Given the description of an element on the screen output the (x, y) to click on. 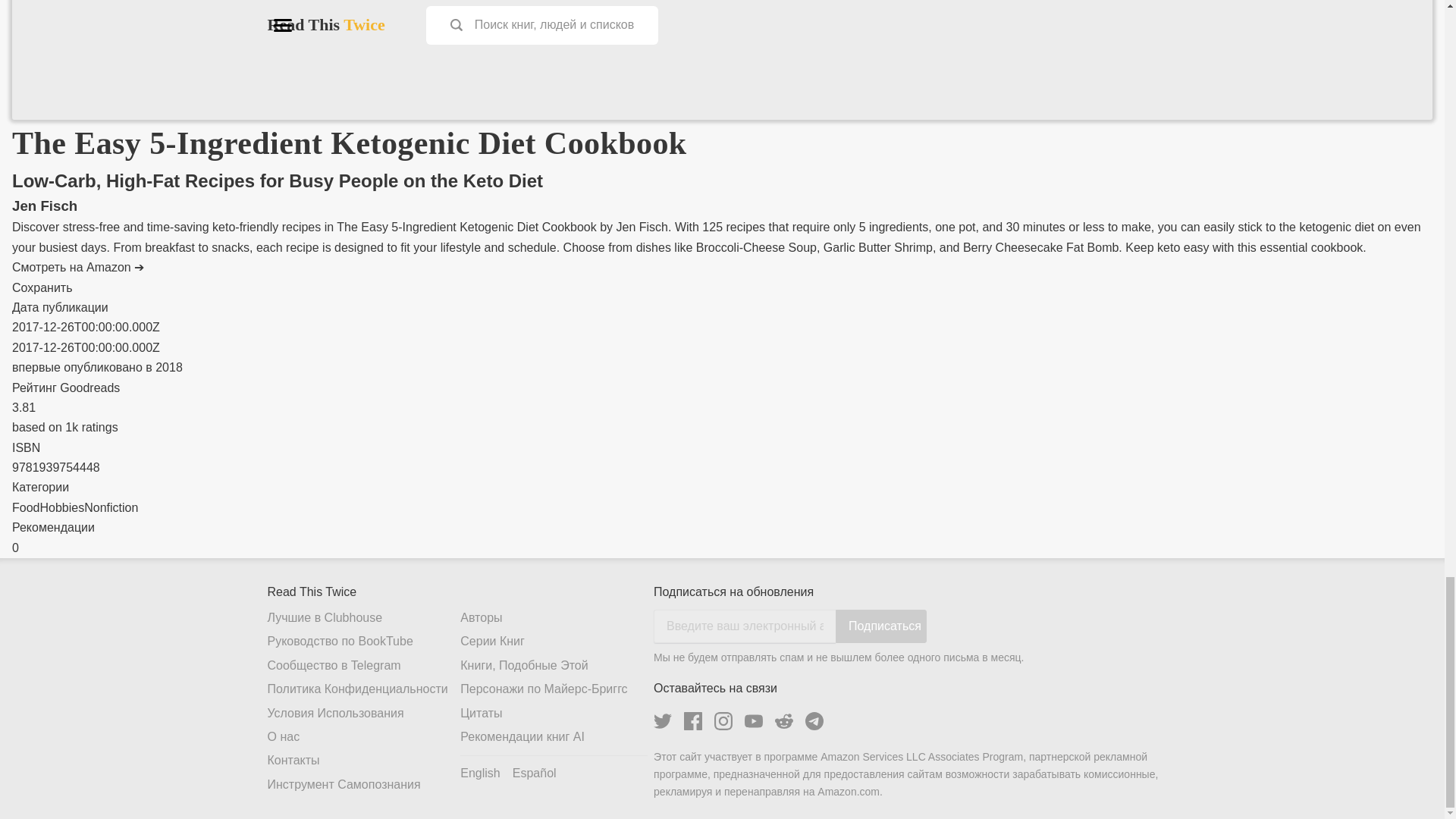
Hobbies (61, 507)
Goodreads reviews (64, 427)
Read This Twice on Reddit (783, 720)
English (479, 773)
Read This Twice on Twitter (662, 720)
Read This Twice Telegram community (814, 720)
Read This Twice on Instagram (723, 720)
Nonfiction (111, 507)
Read This Twice on Facebook (692, 720)
Read This Twice on Youtube (753, 720)
Food (25, 507)
based on 1k ratings (64, 427)
